Given the description of an element on the screen output the (x, y) to click on. 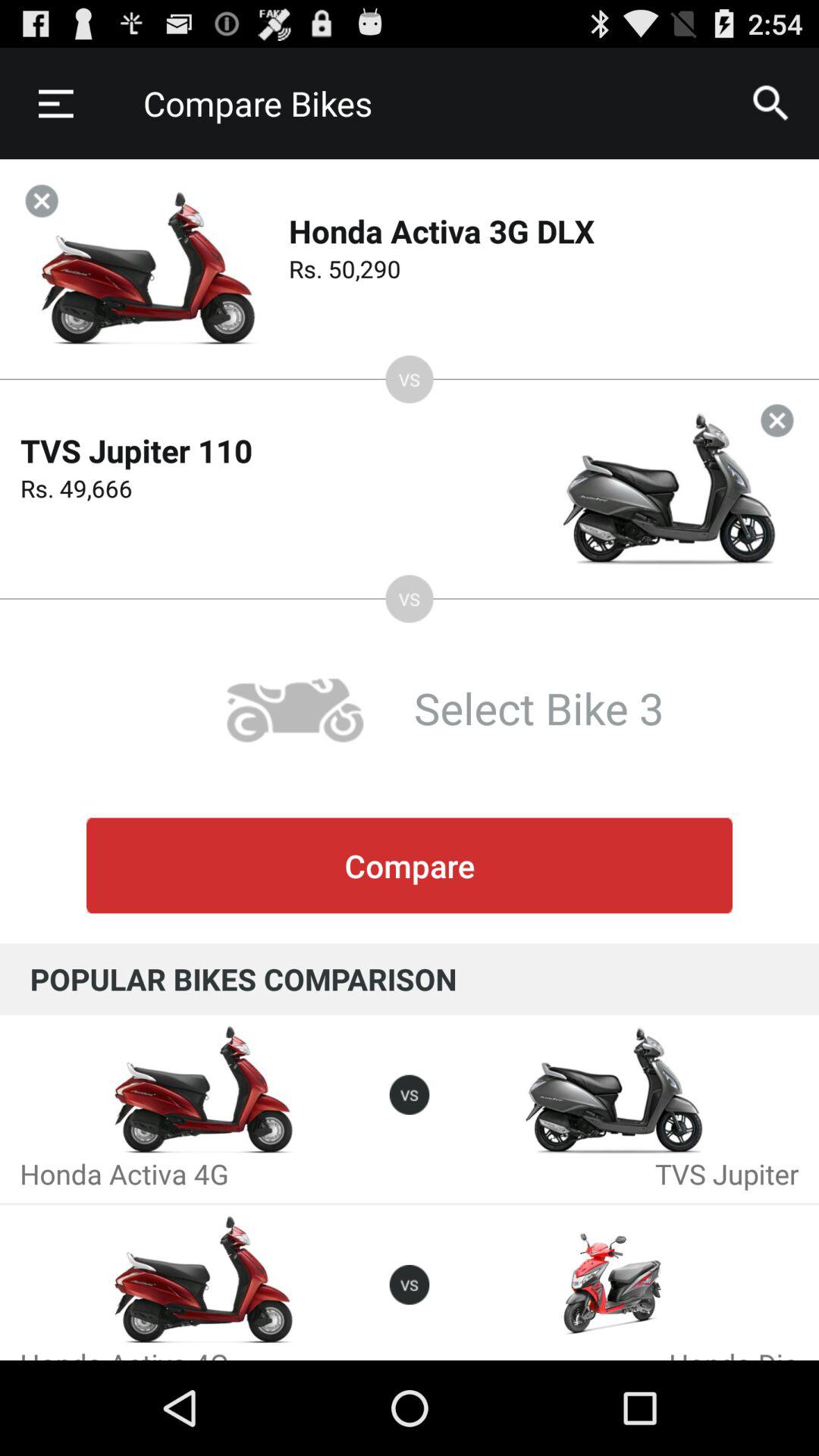
launch icon to the right of the compare bikes (771, 103)
